Given the description of an element on the screen output the (x, y) to click on. 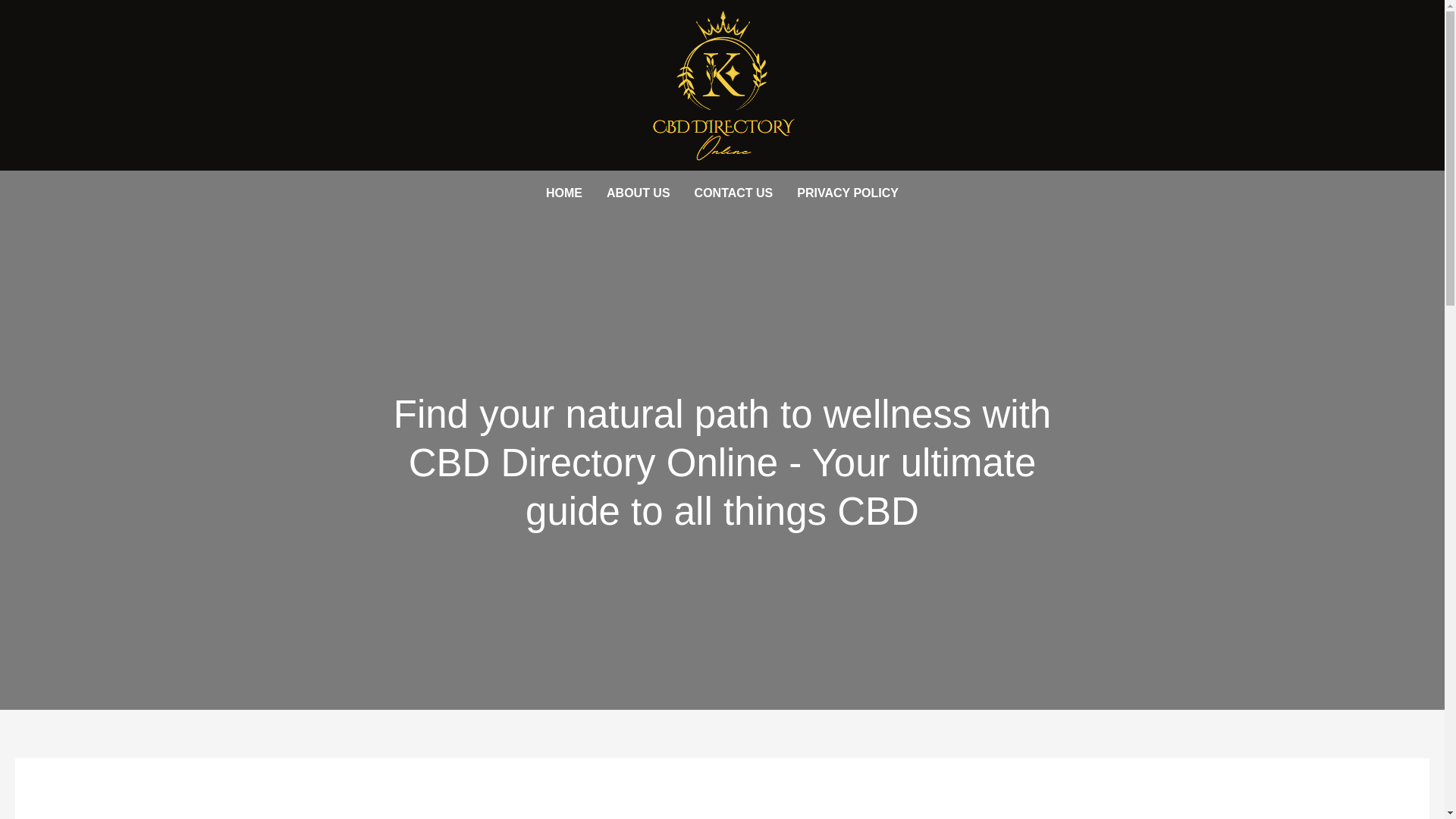
PRIVACY POLICY (847, 193)
HOME (564, 193)
CONTACT US (734, 193)
ABOUT US (638, 193)
